Given the description of an element on the screen output the (x, y) to click on. 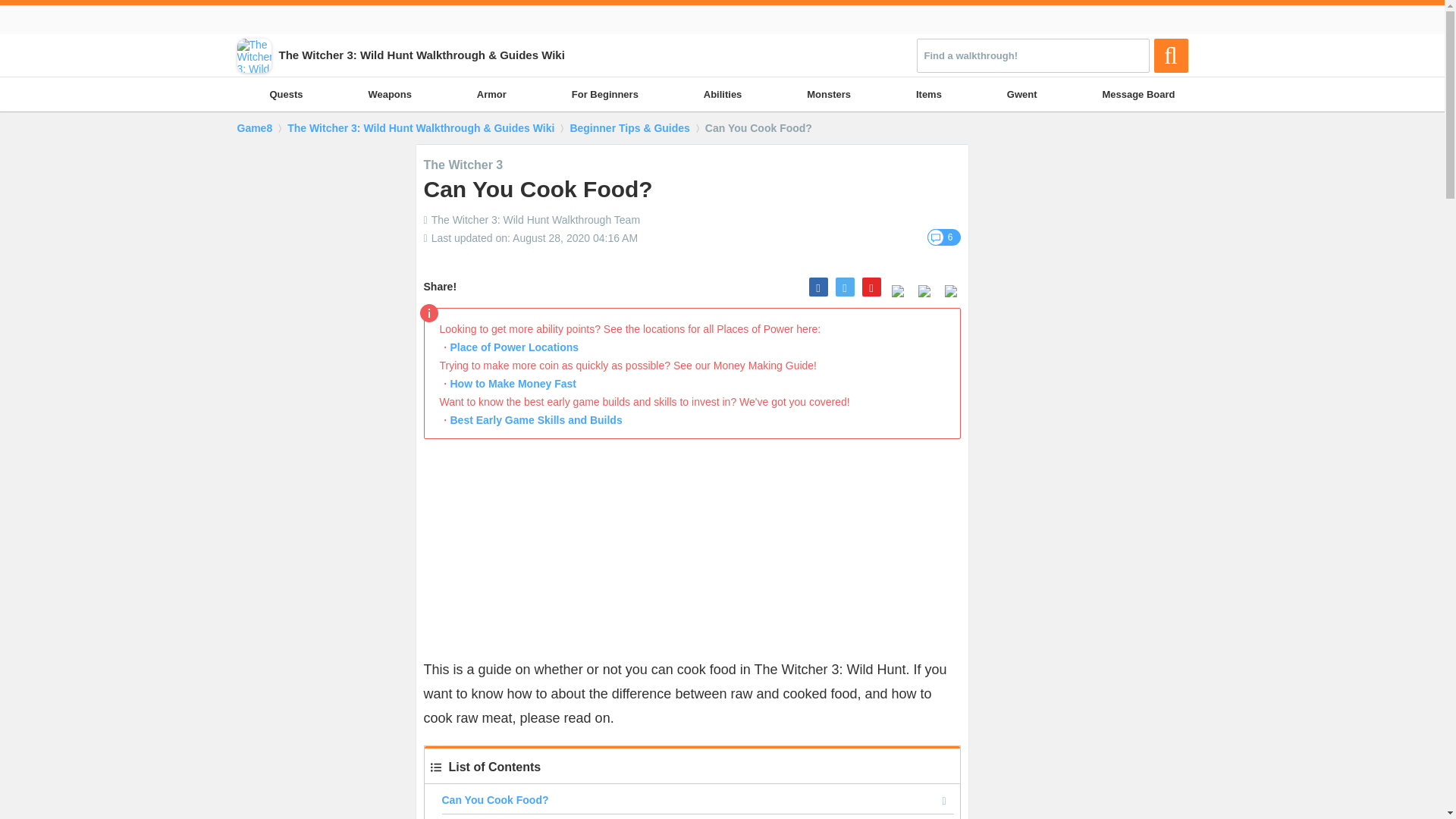
Armor (491, 93)
Abilities (722, 93)
Quests (284, 93)
Place of Power Locations (514, 346)
How to Make Money Fast (512, 383)
Monsters (828, 93)
Best Early Game Skills and Builds (536, 419)
Message Board (1137, 93)
Gwent (1022, 93)
